Given the description of an element on the screen output the (x, y) to click on. 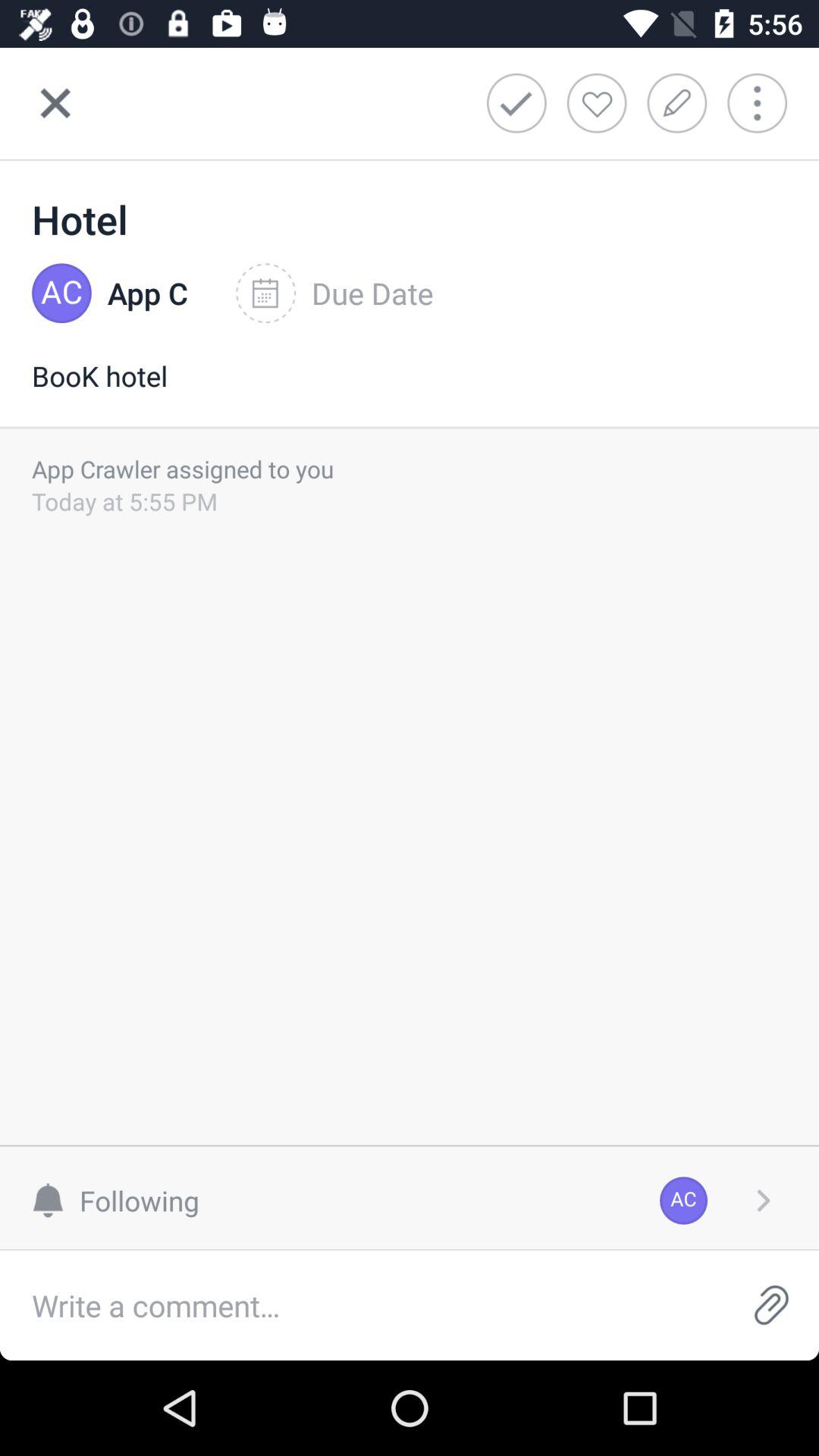
to continue (763, 1200)
